Given the description of an element on the screen output the (x, y) to click on. 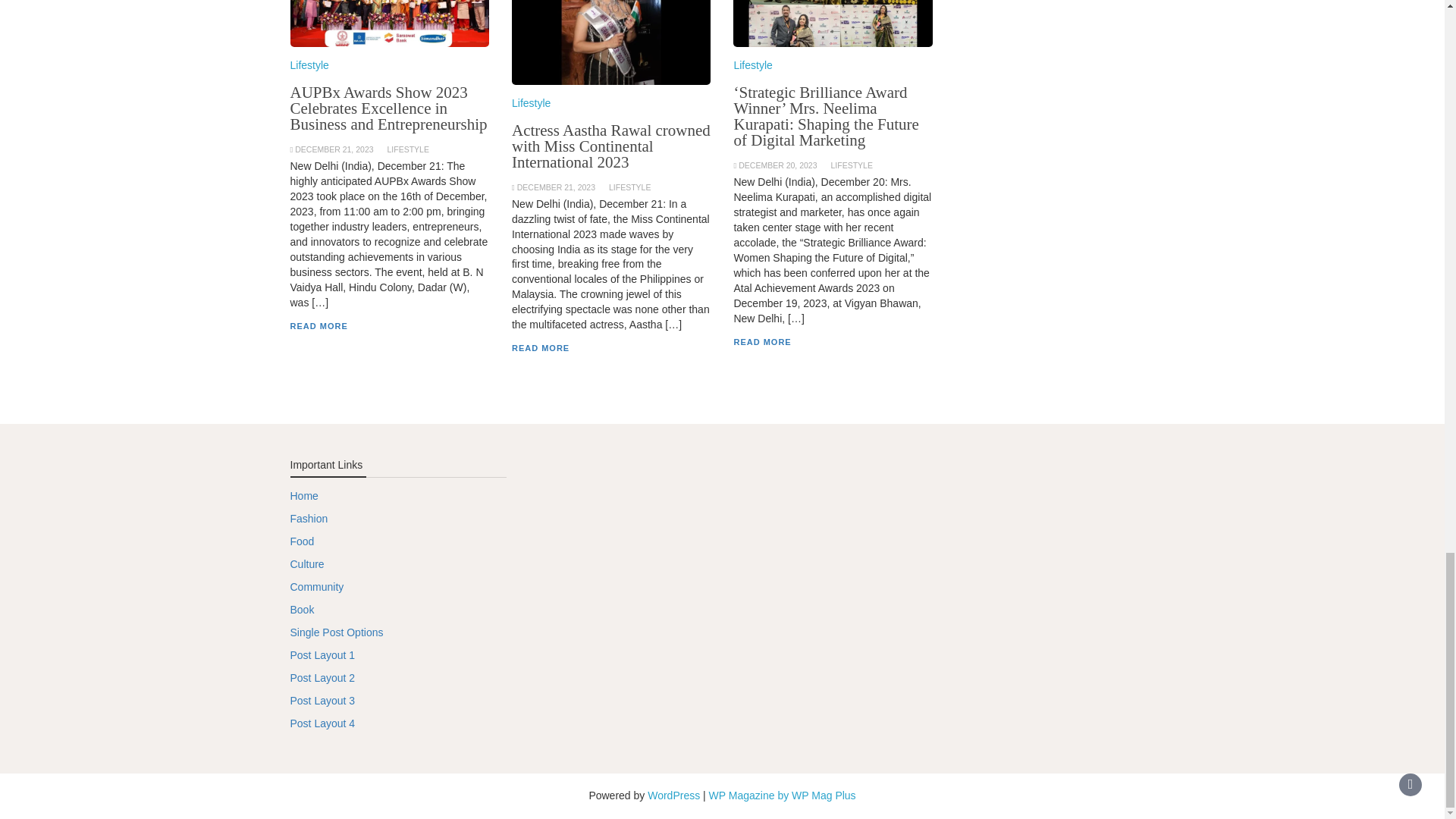
LIFESTYLE (629, 186)
LIFESTYLE (407, 148)
Lifestyle (309, 64)
READ MORE (540, 347)
LIFESTYLE (850, 164)
Lifestyle (531, 102)
DECEMBER 21, 2023 (555, 186)
DECEMBER 20, 2023 (777, 164)
DECEMBER 21, 2023 (333, 148)
READ MORE (318, 325)
Lifestyle (752, 64)
READ MORE (761, 341)
